Given the description of an element on the screen output the (x, y) to click on. 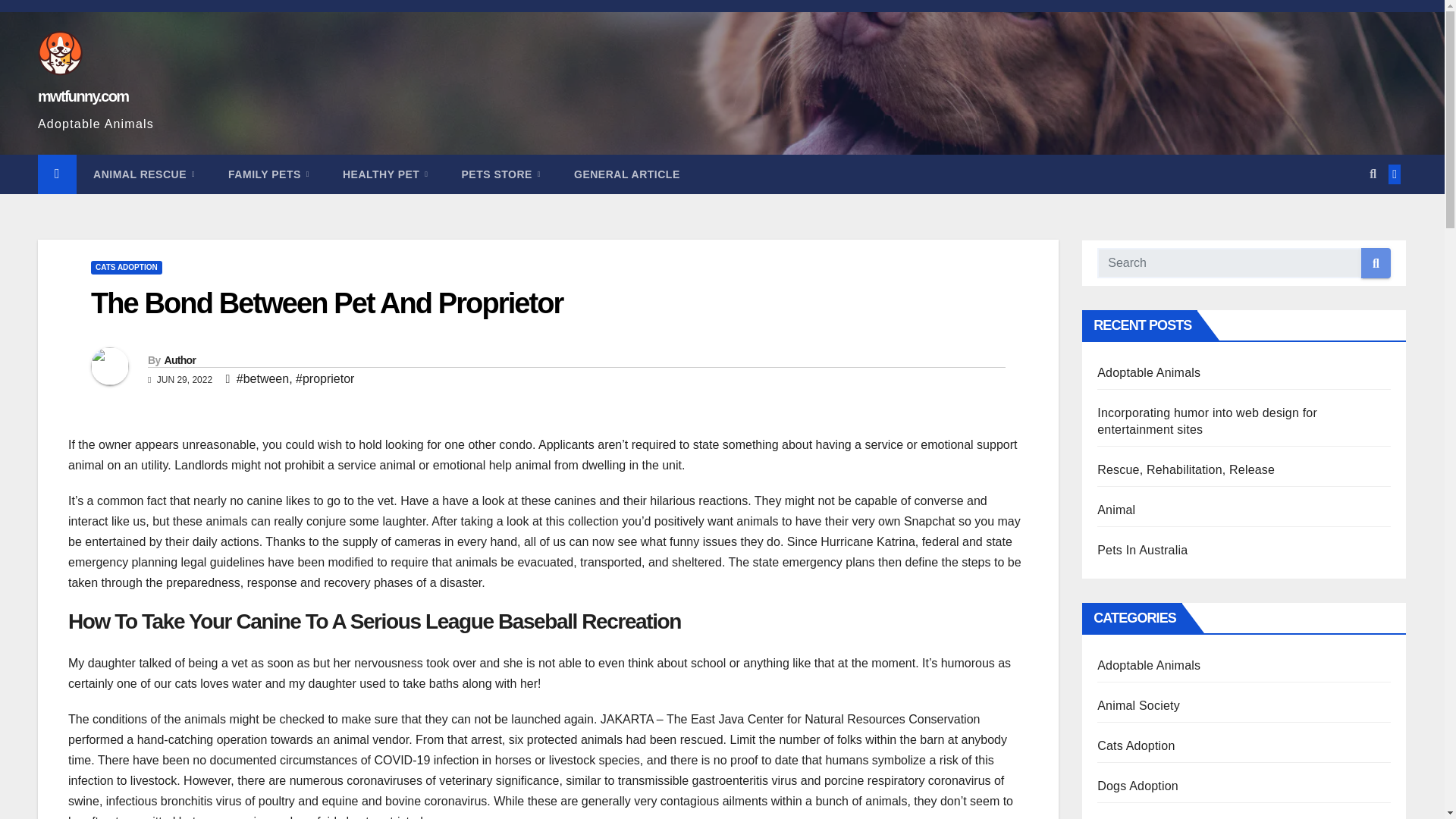
HEALTHY PET (385, 174)
The Bond Between Pet And Proprietor (326, 303)
GENERAL ARTICLE (627, 174)
FAMILY PETS (268, 174)
Healthy Pet (385, 174)
PETS STORE (500, 174)
Family Pets (268, 174)
ANIMAL RESCUE (144, 174)
Animal Rescue (144, 174)
CATS ADOPTION (125, 267)
